Given the description of an element on the screen output the (x, y) to click on. 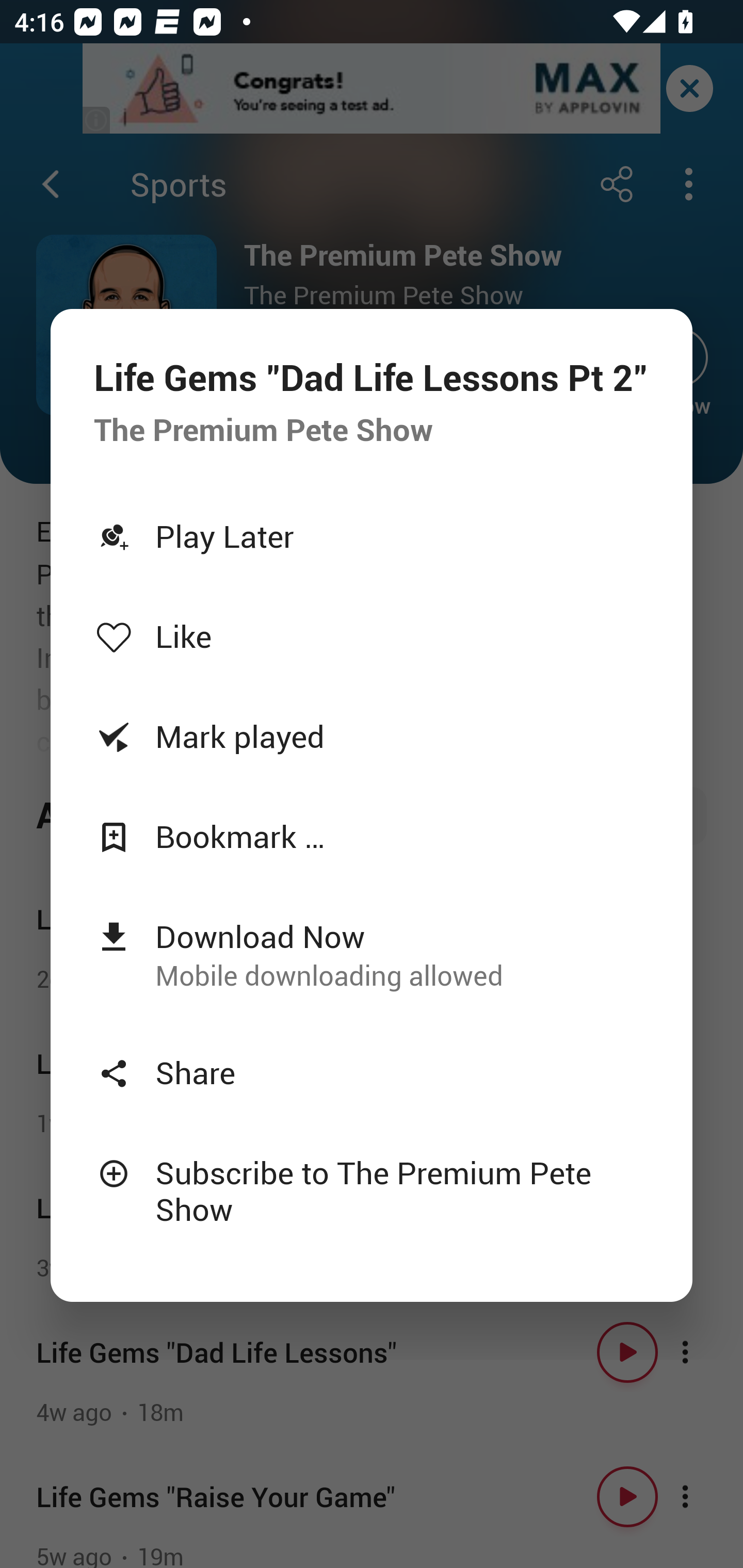
Play Later (371, 536)
Like (371, 636)
Mark played (371, 735)
Bookmark … (371, 835)
Download Now Mobile downloading allowed (371, 953)
Share (371, 1072)
Subscribe to The Premium Pete Show (371, 1190)
